Given the description of an element on the screen output the (x, y) to click on. 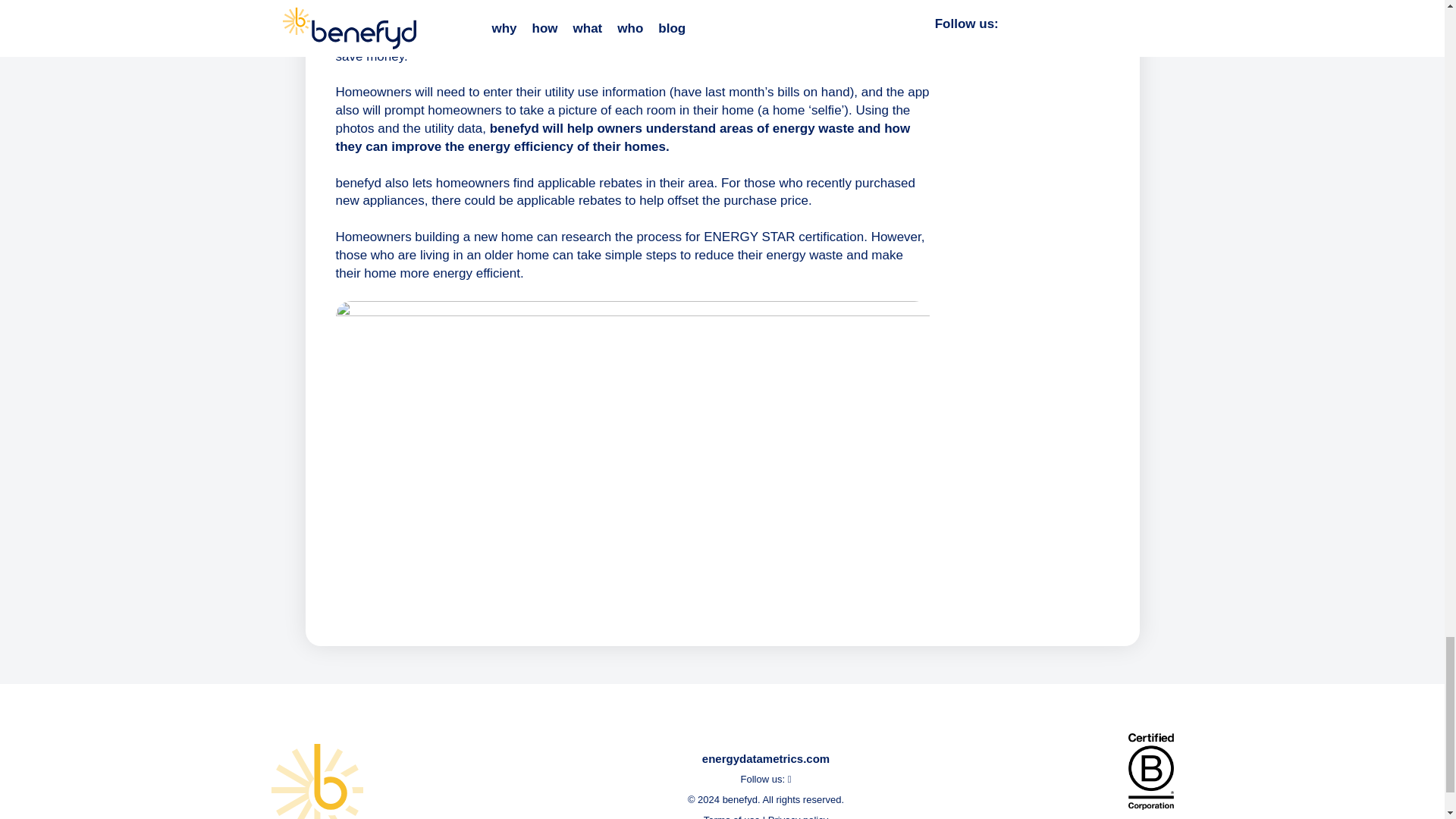
conduct a home energy audit (573, 38)
energydatametrics.com (765, 758)
